Given the description of an element on the screen output the (x, y) to click on. 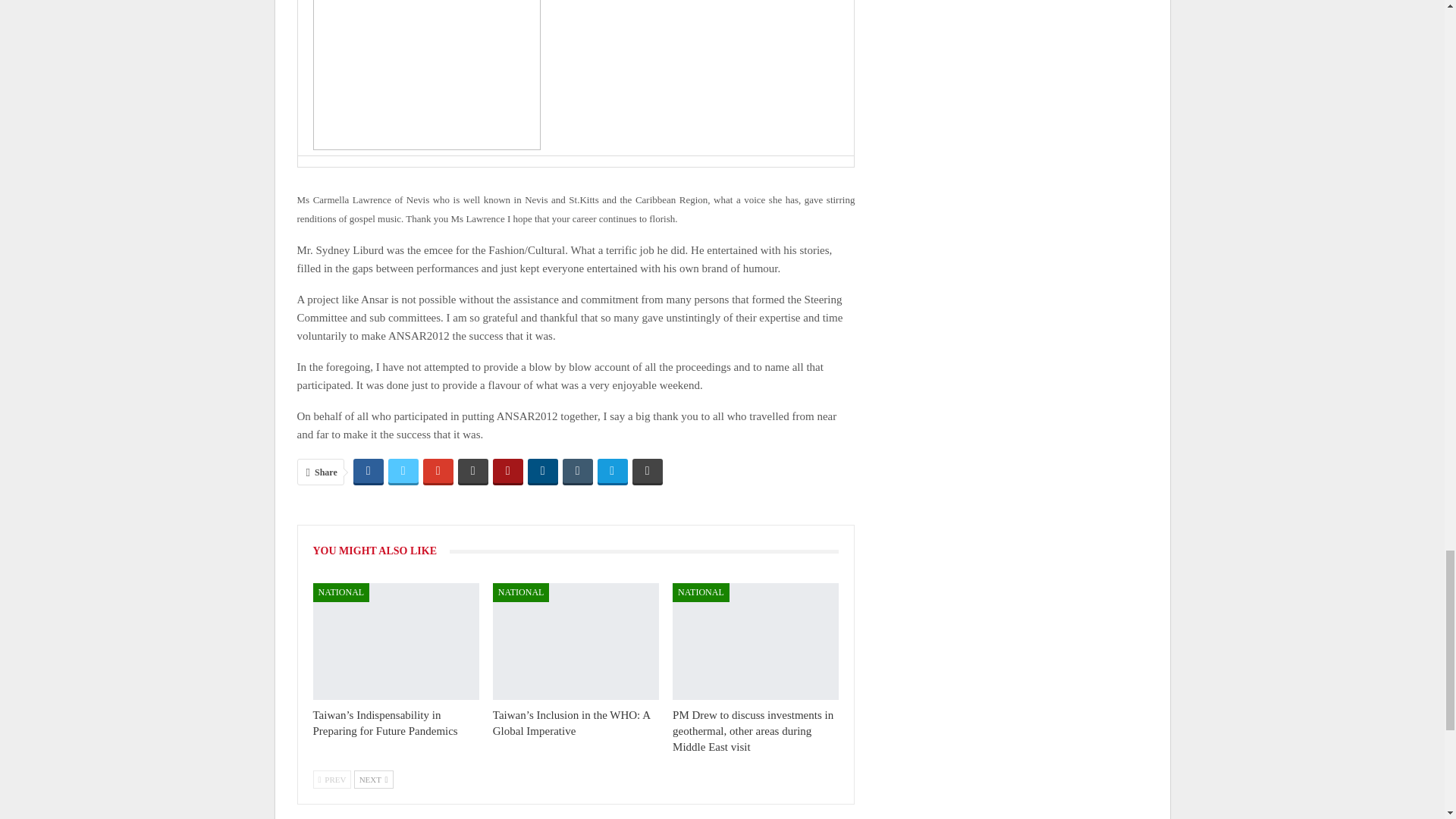
Next (373, 779)
Previous (331, 779)
